Given the description of an element on the screen output the (x, y) to click on. 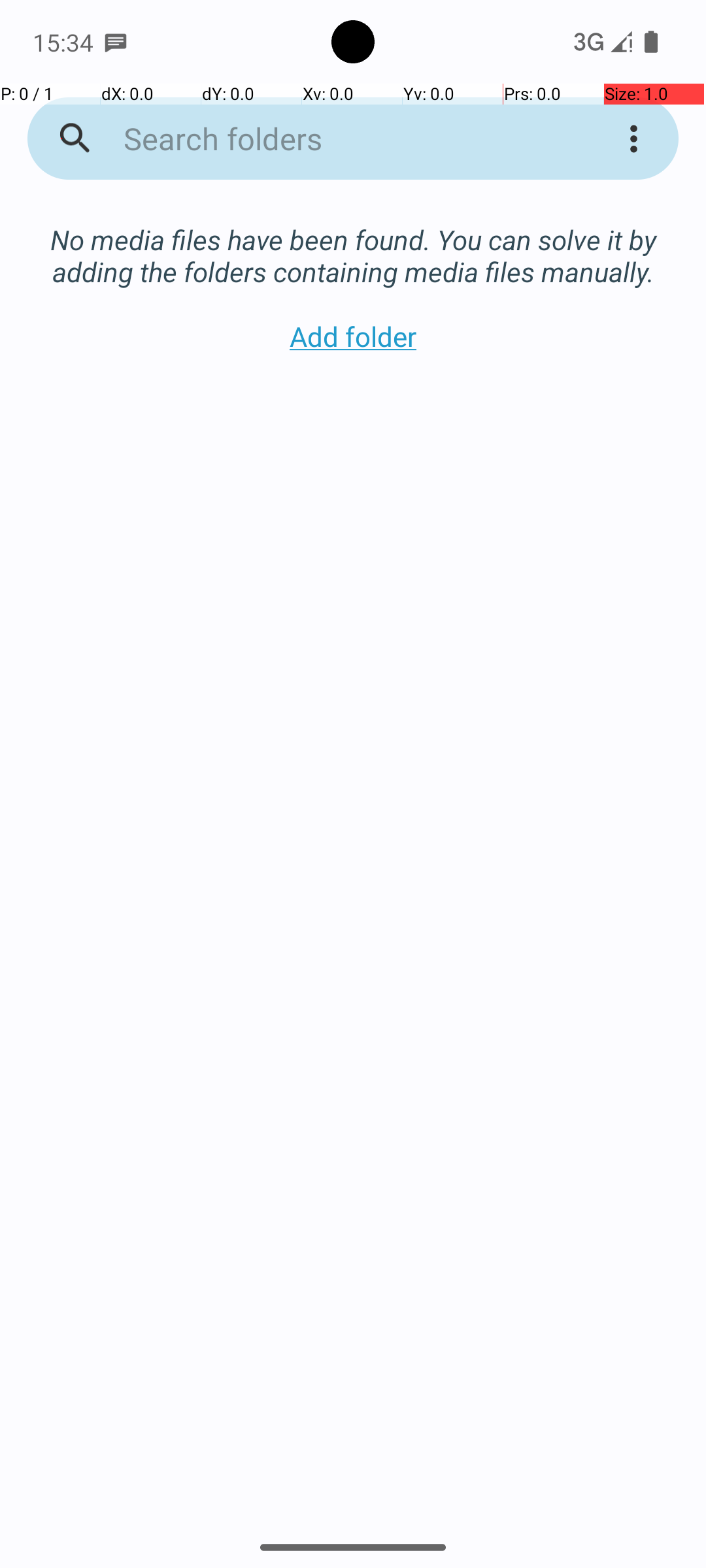
No media files have been found. You can solve it by adding the folders containing media files manually. Element type: android.widget.TextView (353, 241)
Add folder Element type: android.widget.TextView (352, 336)
Search folders Element type: android.widget.EditText (335, 138)
